Given the description of an element on the screen output the (x, y) to click on. 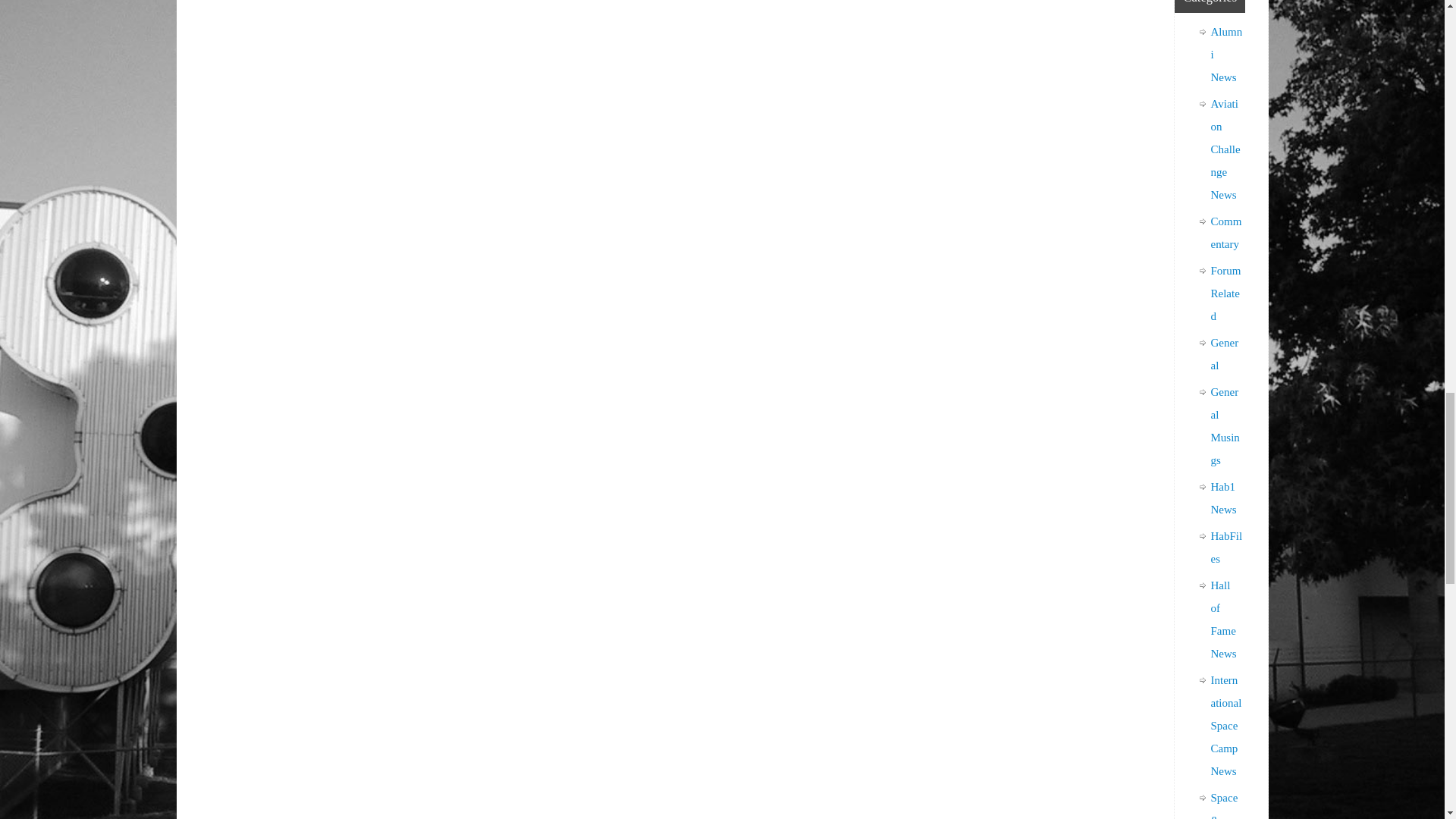
HabFiles (1225, 547)
Commentary (1225, 232)
